Given the description of an element on the screen output the (x, y) to click on. 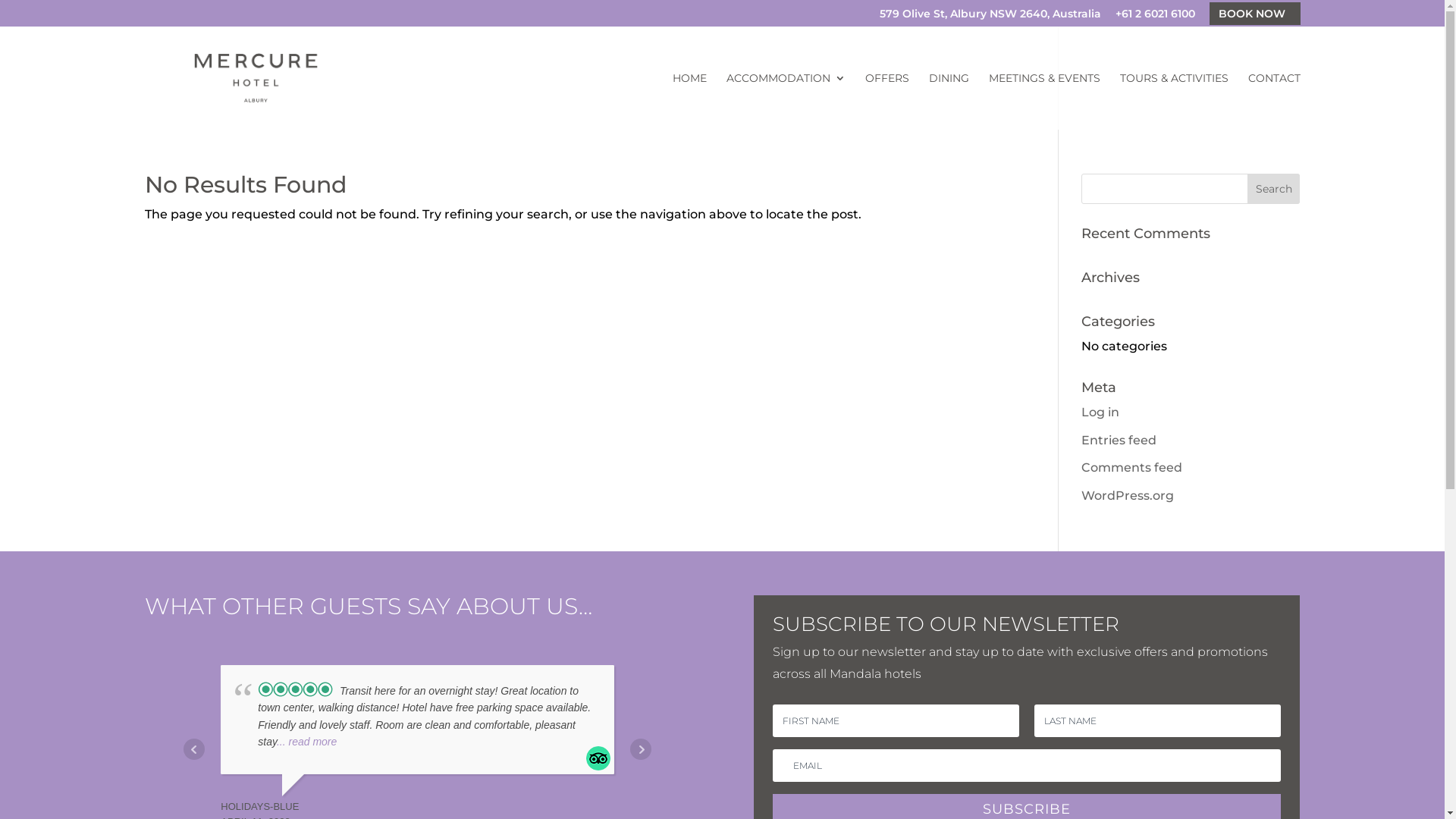
... read more Element type: text (306, 741)
Prev Element type: text (193, 748)
HOME Element type: text (688, 100)
Log in Element type: text (1100, 411)
DINING Element type: text (948, 100)
OFFERS Element type: text (886, 100)
WordPress.org Element type: text (1127, 495)
ACCOMMODATION Element type: text (785, 100)
Search Element type: text (1273, 188)
+61 2 6021 6100 Element type: text (1154, 16)
TOURS & ACTIVITIES Element type: text (1173, 100)
MEETINGS & EVENTS Element type: text (1044, 100)
Entries feed Element type: text (1118, 440)
Comments feed Element type: text (1131, 467)
Next Element type: text (640, 748)
579 Olive St, Albury NSW 2640, Australia Element type: text (990, 16)
CONTACT Element type: text (1274, 100)
BOOK NOW Element type: text (1253, 12)
